Given the description of an element on the screen output the (x, y) to click on. 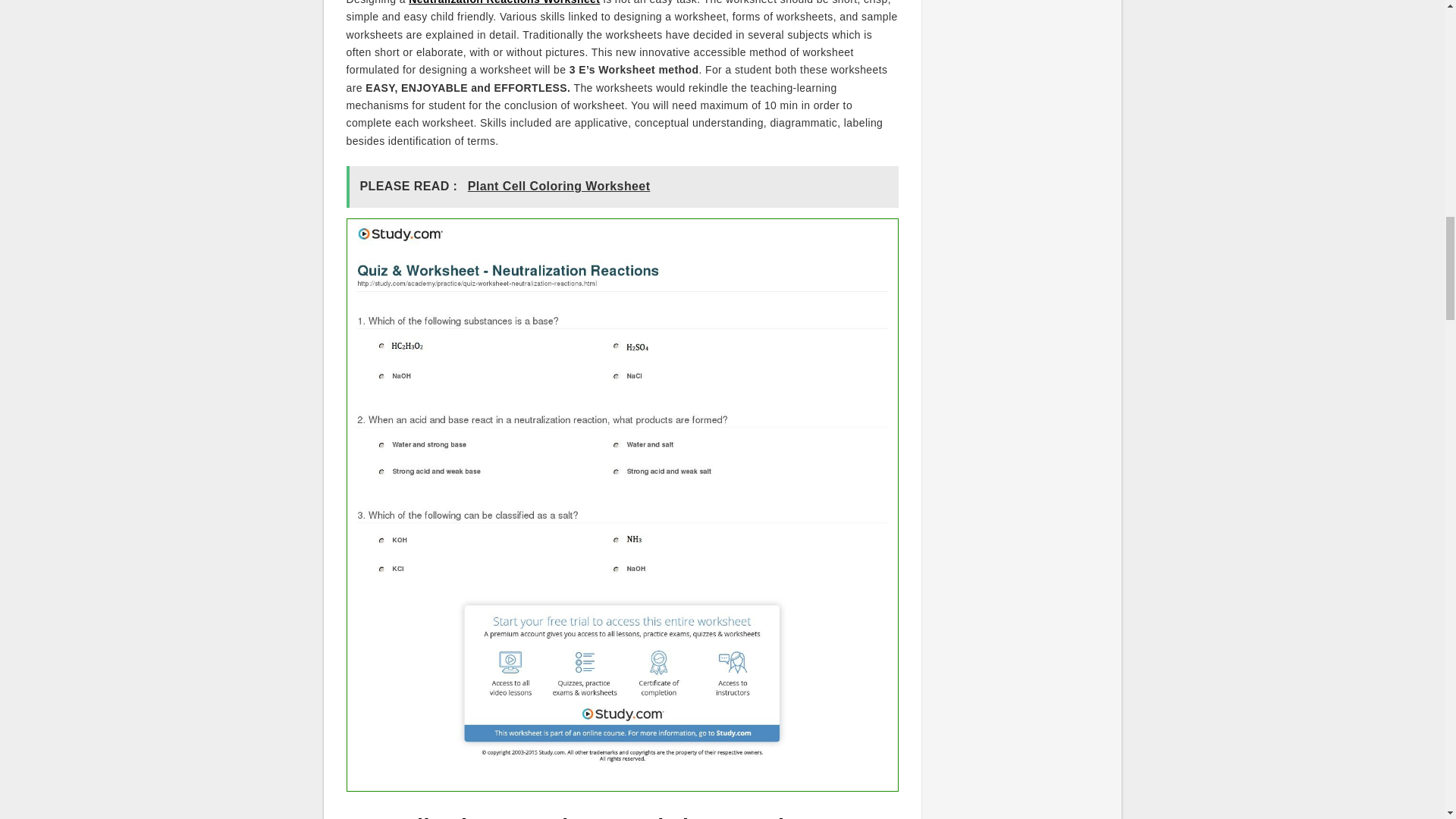
PLEASE READ :   Plant Cell Coloring Worksheet (622, 187)
Neutralization Reactions Worksheet (504, 2)
